Given the description of an element on the screen output the (x, y) to click on. 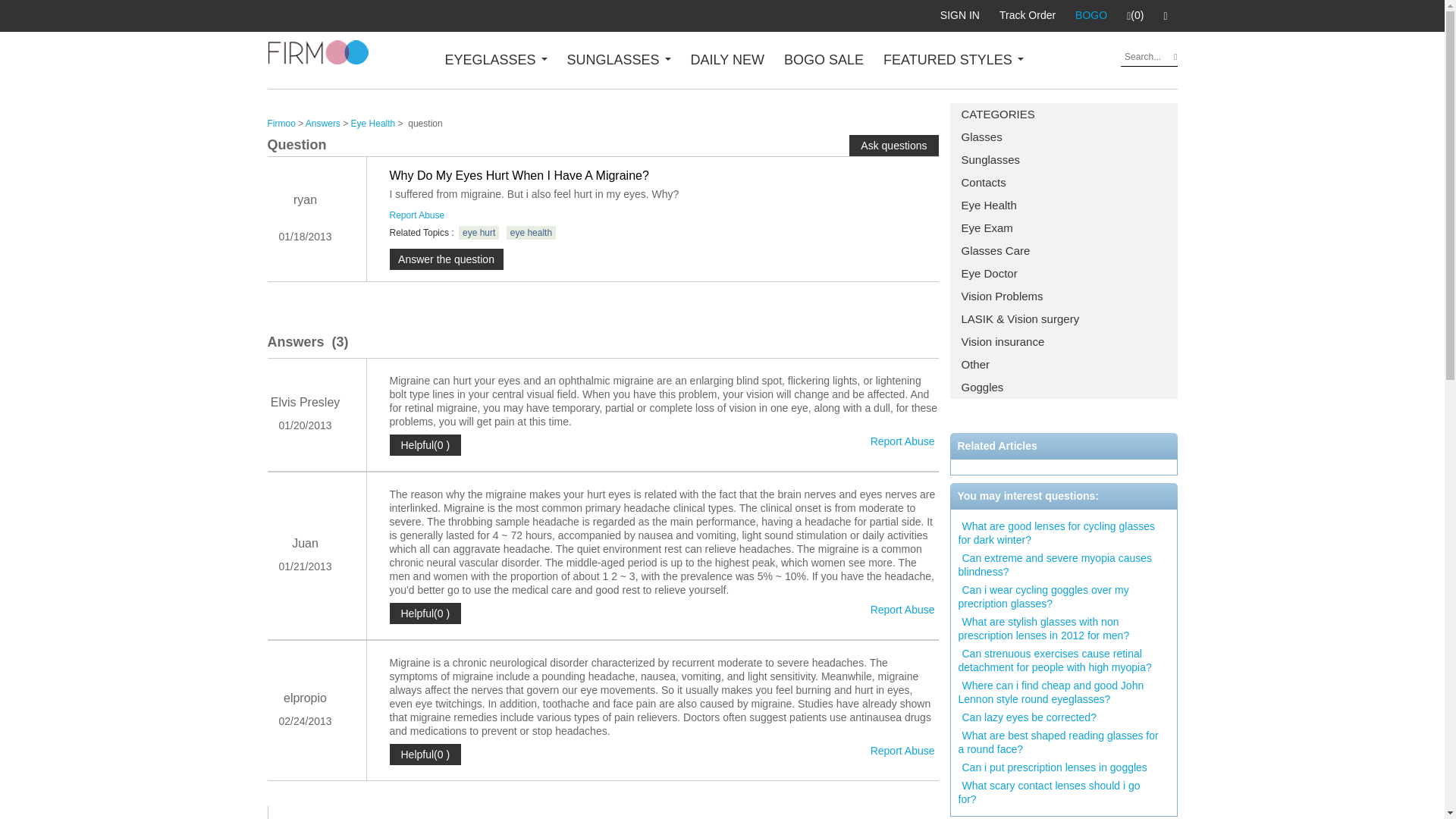
EYEGLASSES (495, 59)
Track Order (1027, 15)
BOGO (1090, 15)
SIGN IN (960, 15)
